Given the description of an element on the screen output the (x, y) to click on. 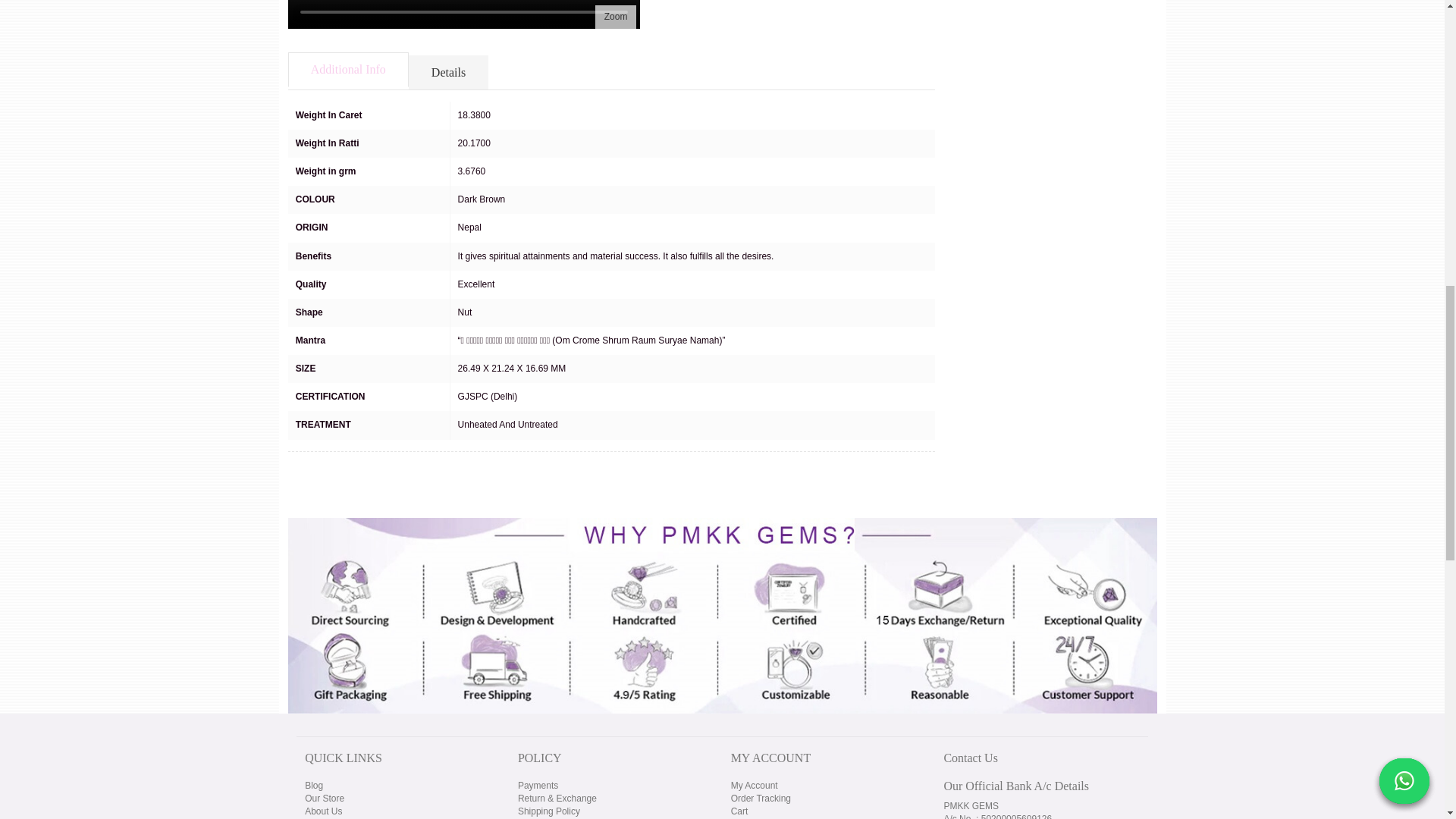
Natural Nepali 13 Mukhi Rudraksha (616, 16)
